Given the description of an element on the screen output the (x, y) to click on. 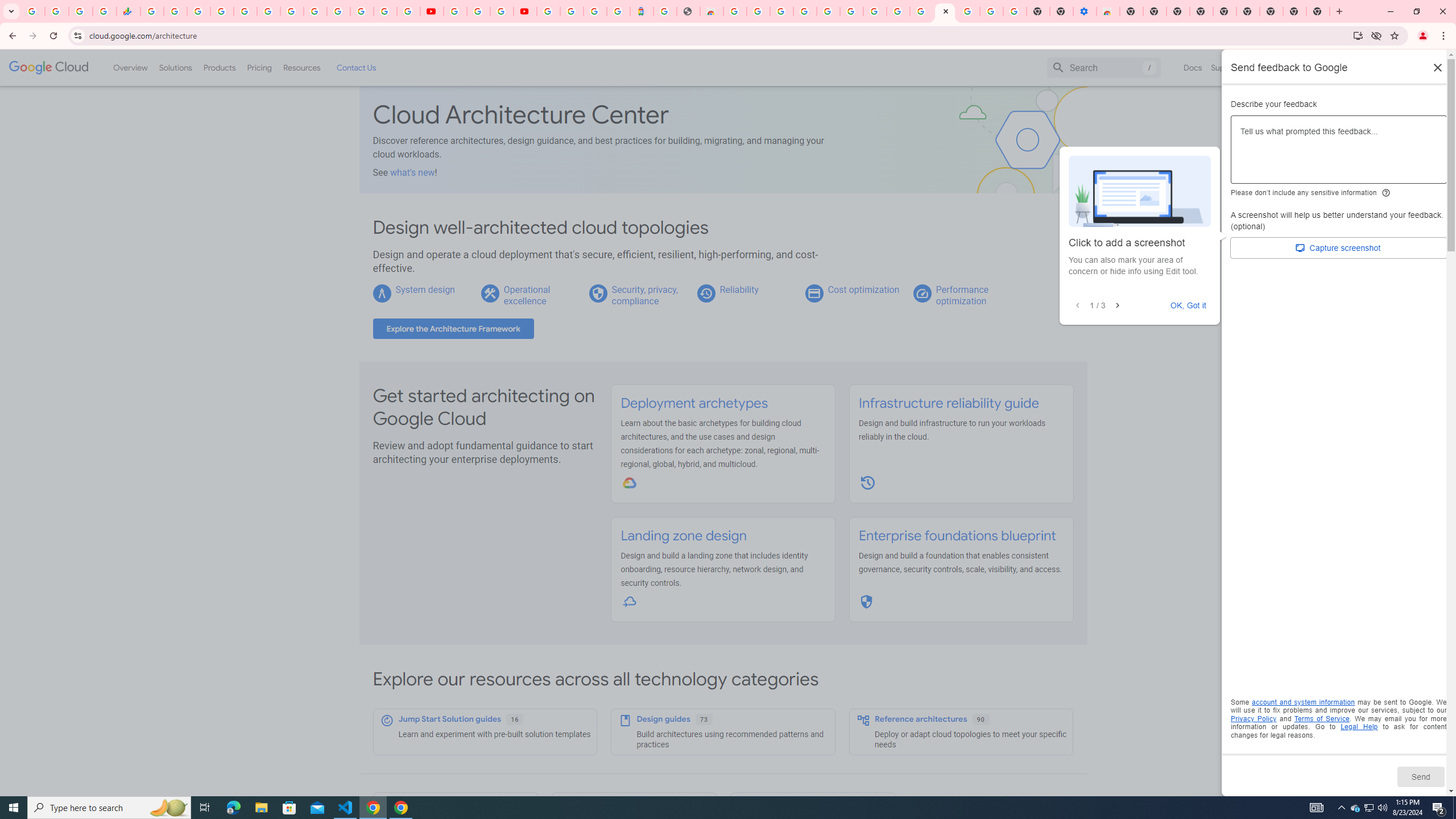
Opens in a new tab. Privacy Policy (1253, 718)
Sign in - Google Accounts (338, 11)
Privacy Checkup (408, 11)
Pricing (259, 67)
Previous (1078, 305)
Create your Google Account (757, 11)
Performance optimization (962, 295)
Turn cookies on or off - Computer - Google Account Help (1015, 11)
Sign in - Google Accounts (827, 11)
Google Account Help (992, 11)
System design (424, 289)
